Given the description of an element on the screen output the (x, y) to click on. 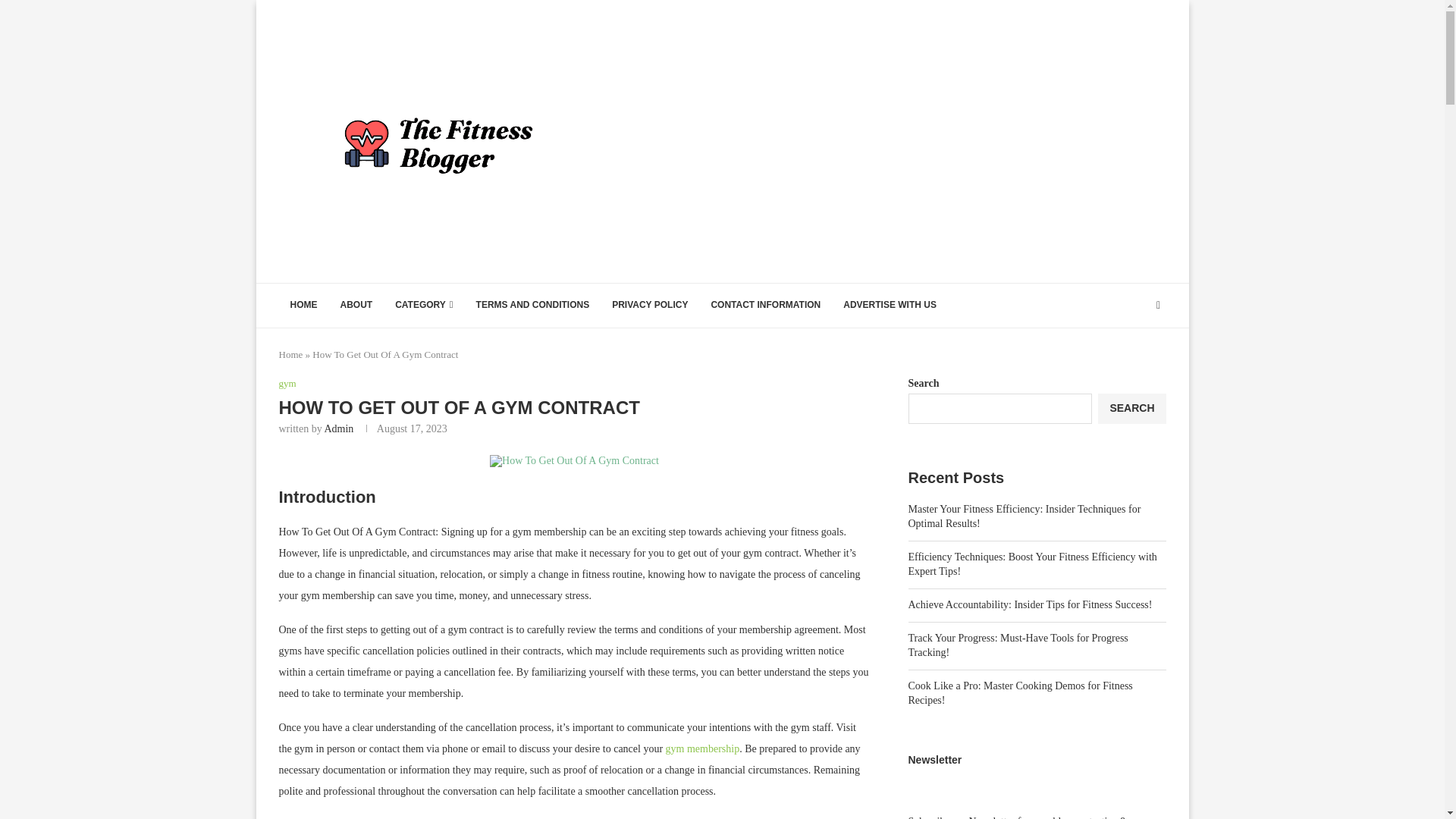
HOME (304, 305)
CATEGORY (424, 305)
How To Get Out Of A Gym Contract (574, 460)
ABOUT (356, 305)
